Given the description of an element on the screen output the (x, y) to click on. 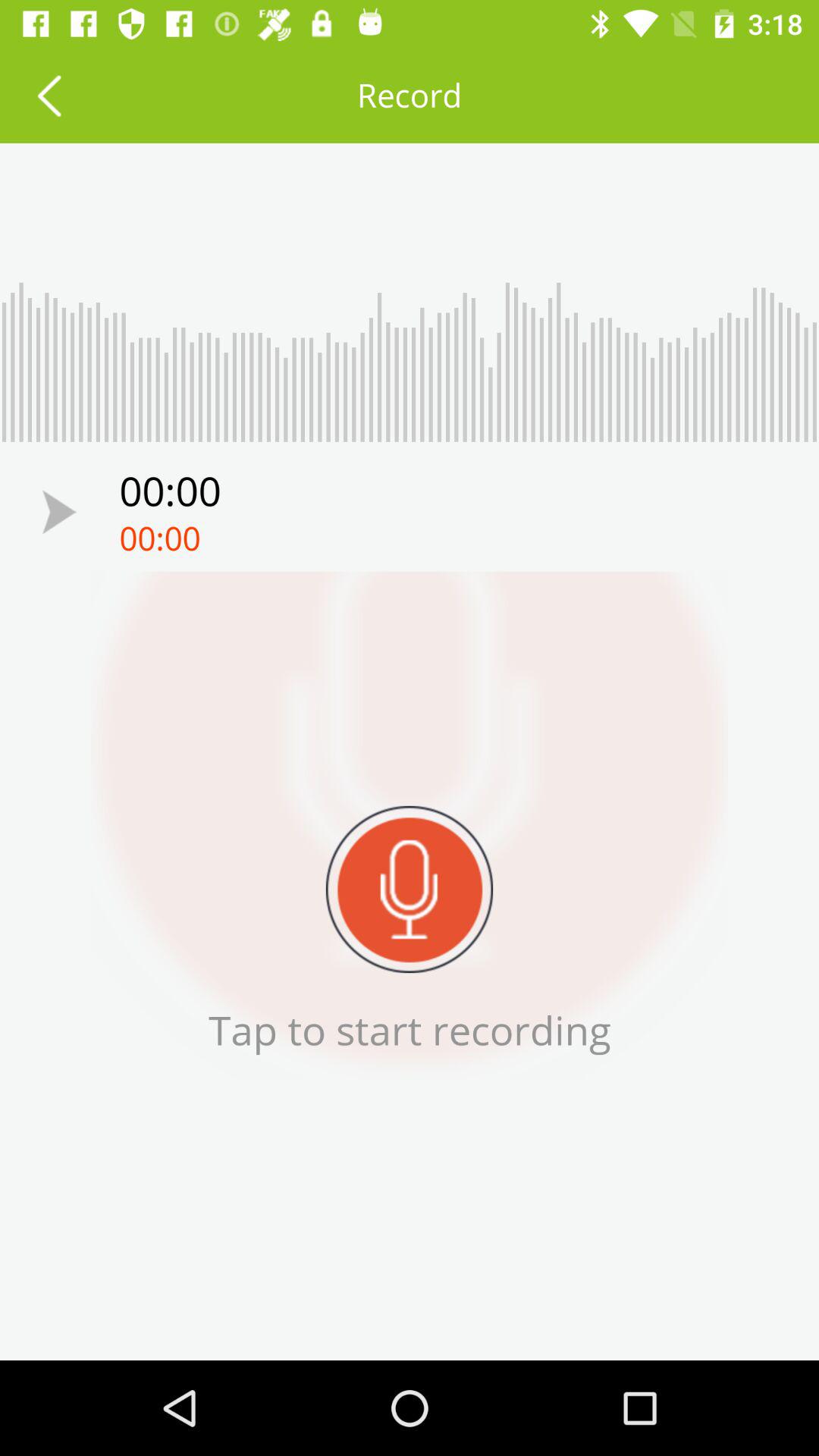
click item next to the record icon (48, 95)
